Given the description of an element on the screen output the (x, y) to click on. 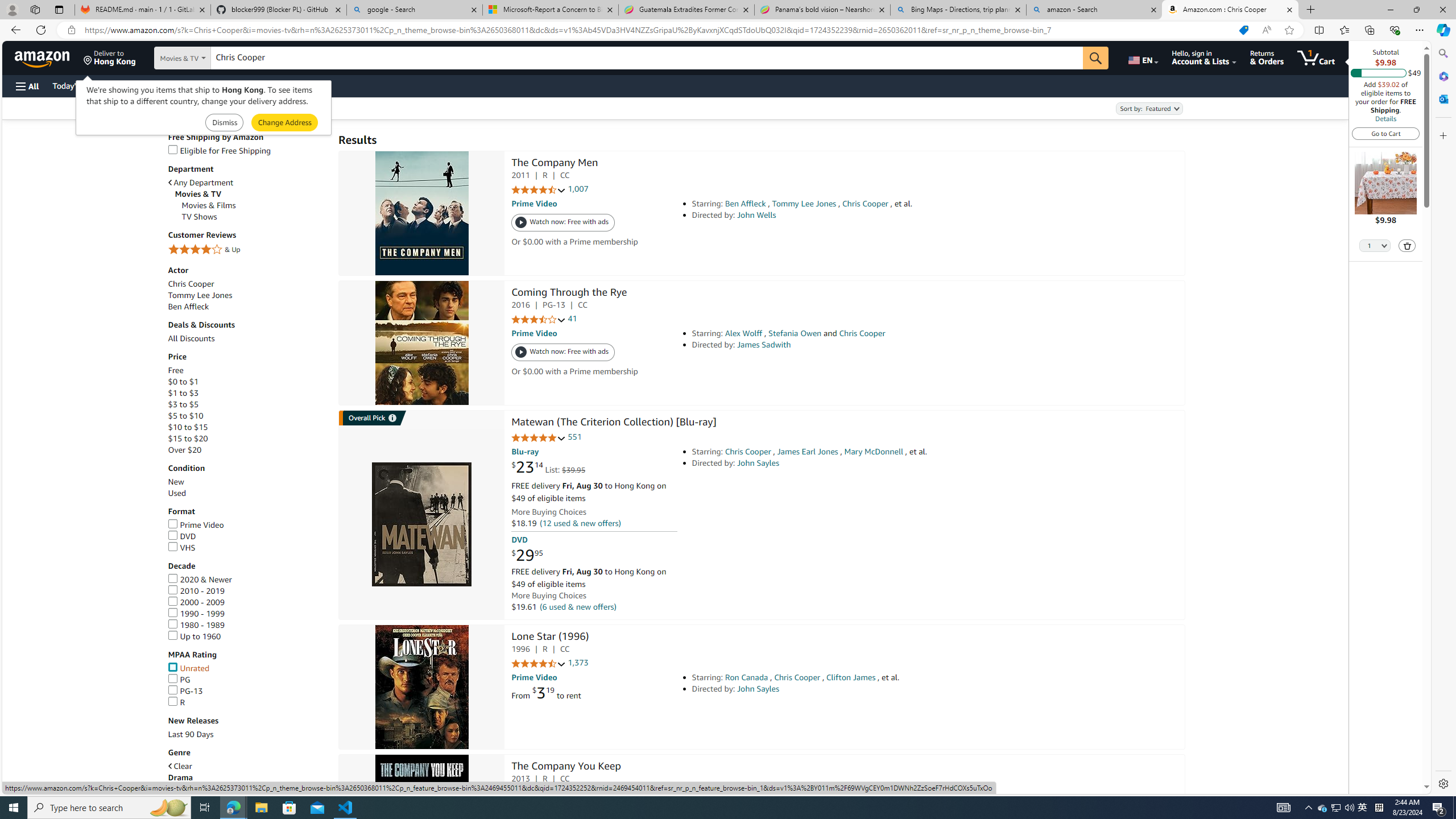
Unrated (247, 668)
Movies & Films (254, 205)
(12 used & new offers) (580, 523)
$1 to $3 (247, 393)
Gift Cards (251, 85)
Up to 1960 (194, 636)
Up to 1960 (247, 636)
Last 90 Days (247, 734)
4 Stars & Up& Up (247, 250)
Starring: Ron Canada , Chris Cooper , Clifton James , et al. (850, 677)
